Given the description of an element on the screen output the (x, y) to click on. 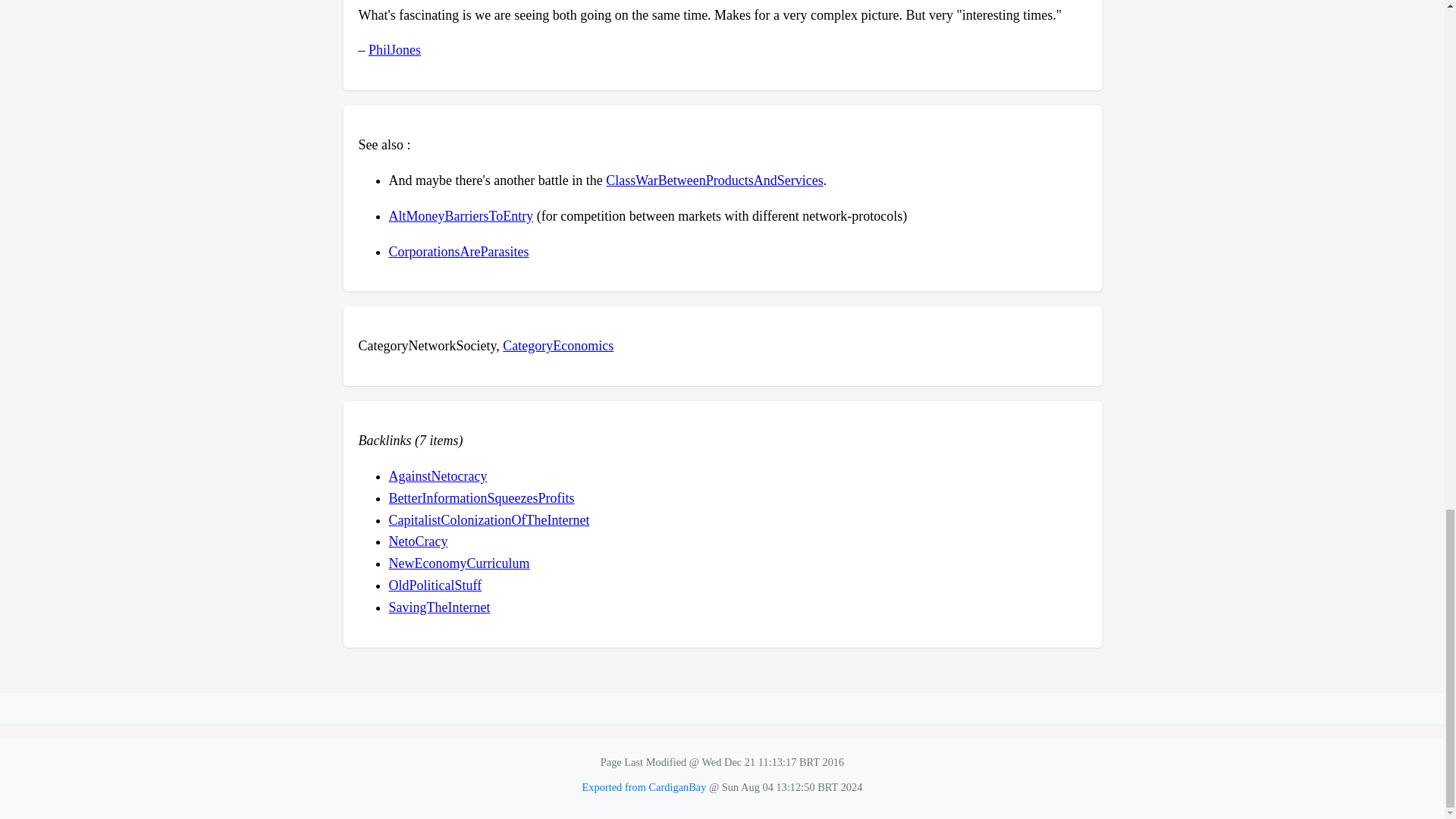
BetterInformationSqueezesProfits (480, 498)
SavingTheInternet (438, 607)
ClassWarBetweenProductsAndServices (714, 180)
Exported from CardiganBay (644, 787)
AgainstNetocracy (437, 476)
CategoryEconomics (557, 345)
AltMoneyBarriersToEntry (460, 215)
NetoCracy (417, 540)
NewEconomyCurriculum (458, 563)
CorporationsAreParasites (458, 251)
